Given the description of an element on the screen output the (x, y) to click on. 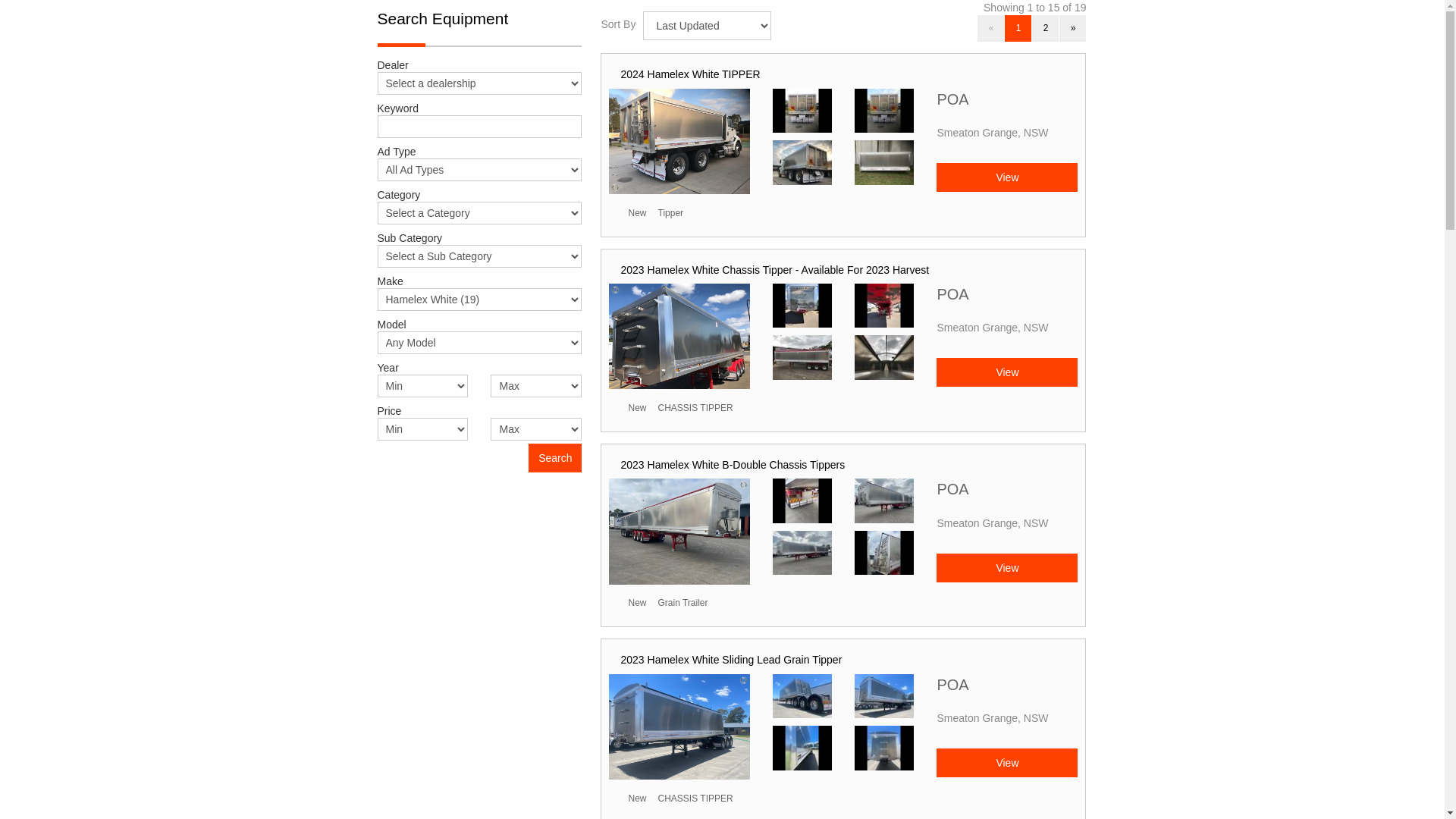
Search Element type: text (554, 457)
POA Element type: text (1006, 298)
View Element type: text (1006, 177)
View Element type: text (1006, 371)
View Element type: text (1006, 567)
POA Element type: text (1006, 103)
POA Element type: text (1006, 688)
View Element type: text (1006, 762)
POA Element type: text (1006, 493)
1 Element type: text (1017, 28)
2 Element type: text (1045, 28)
